Given the description of an element on the screen output the (x, y) to click on. 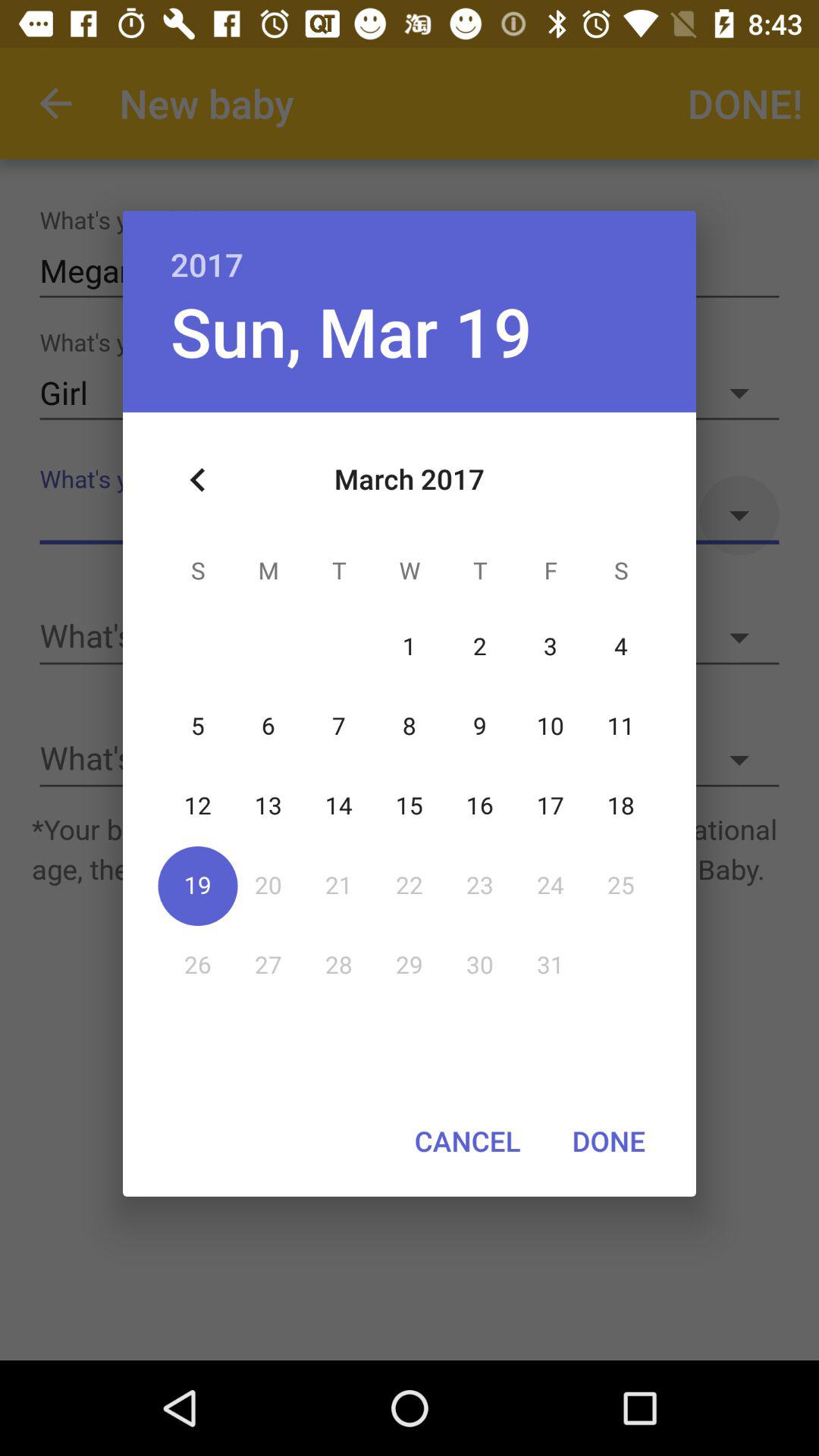
choose the item next to cancel (608, 1140)
